Given the description of an element on the screen output the (x, y) to click on. 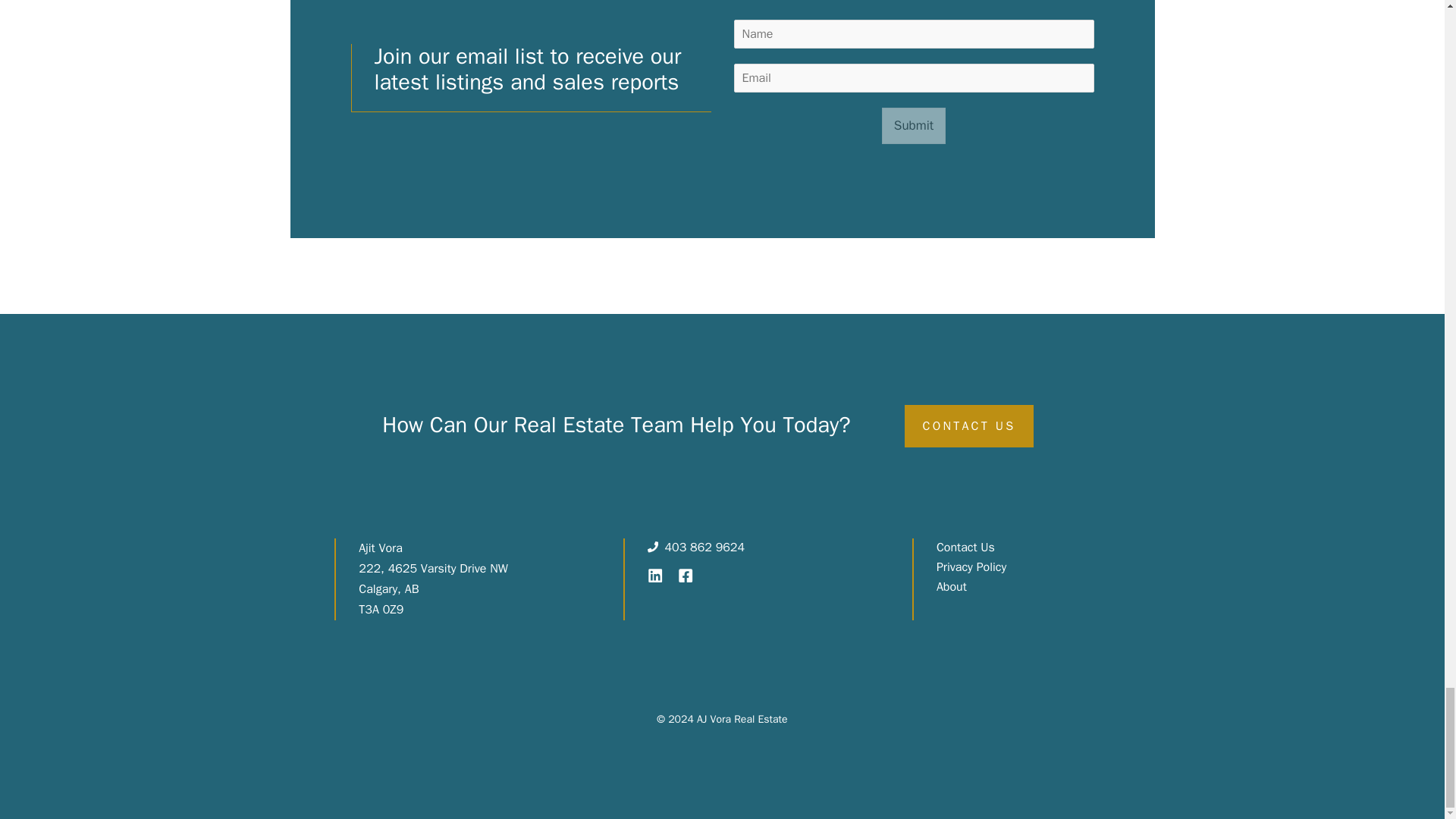
403 862 9624 (703, 547)
Submit (913, 125)
CONTACT US (968, 425)
Contact Us (965, 547)
